Given the description of an element on the screen output the (x, y) to click on. 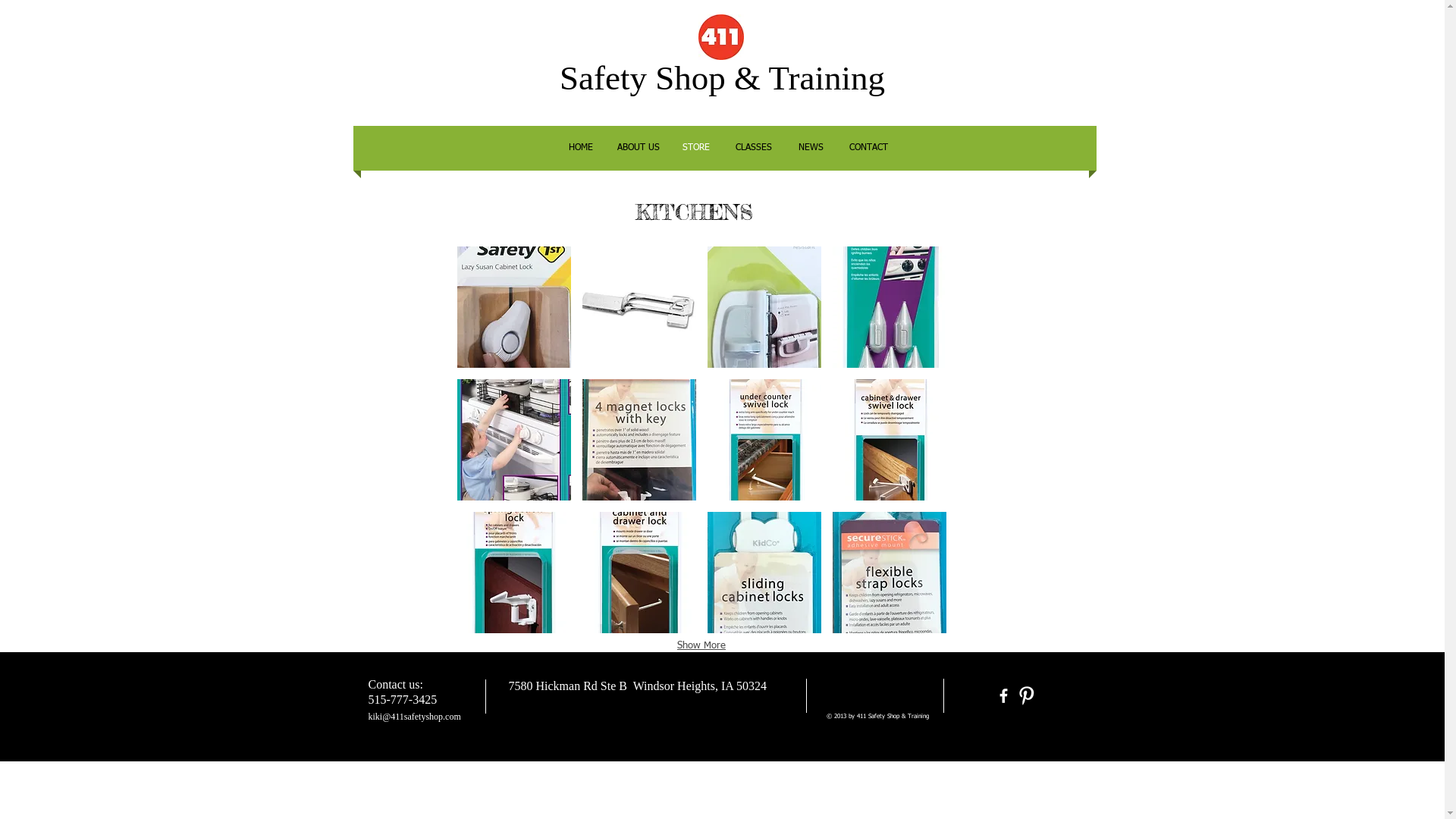
NEWS Element type: text (811, 147)
HOME Element type: text (580, 147)
CONTACT Element type: text (868, 147)
STORE Element type: text (695, 147)
Show More Element type: text (701, 644)
CLASSES Element type: text (753, 147)
411_Circle Logo Red.jpg Element type: hover (720, 36)
ABOUT US Element type: text (638, 147)
kiki@411safetyshop.com Element type: text (414, 716)
